Given the description of an element on the screen output the (x, y) to click on. 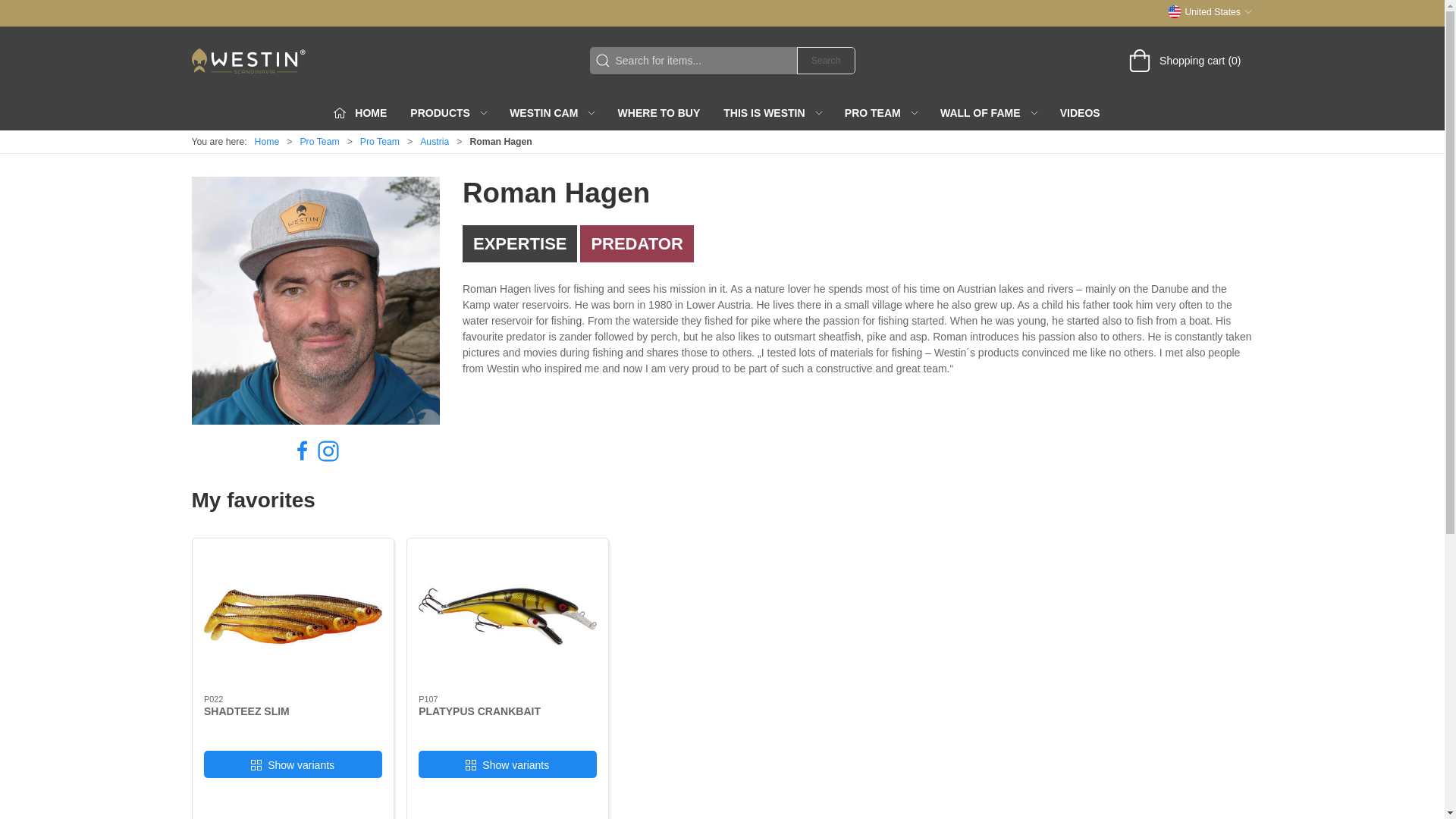
United States (1210, 11)
WALL OF FAME (988, 112)
Austria (434, 141)
Pro Team (378, 141)
THIS IS WESTIN (771, 112)
WESTIN CAM (551, 112)
Show variants (292, 764)
HOME (365, 112)
Show variants (507, 764)
PLATYPUS CRANKBAIT (479, 711)
